Given the description of an element on the screen output the (x, y) to click on. 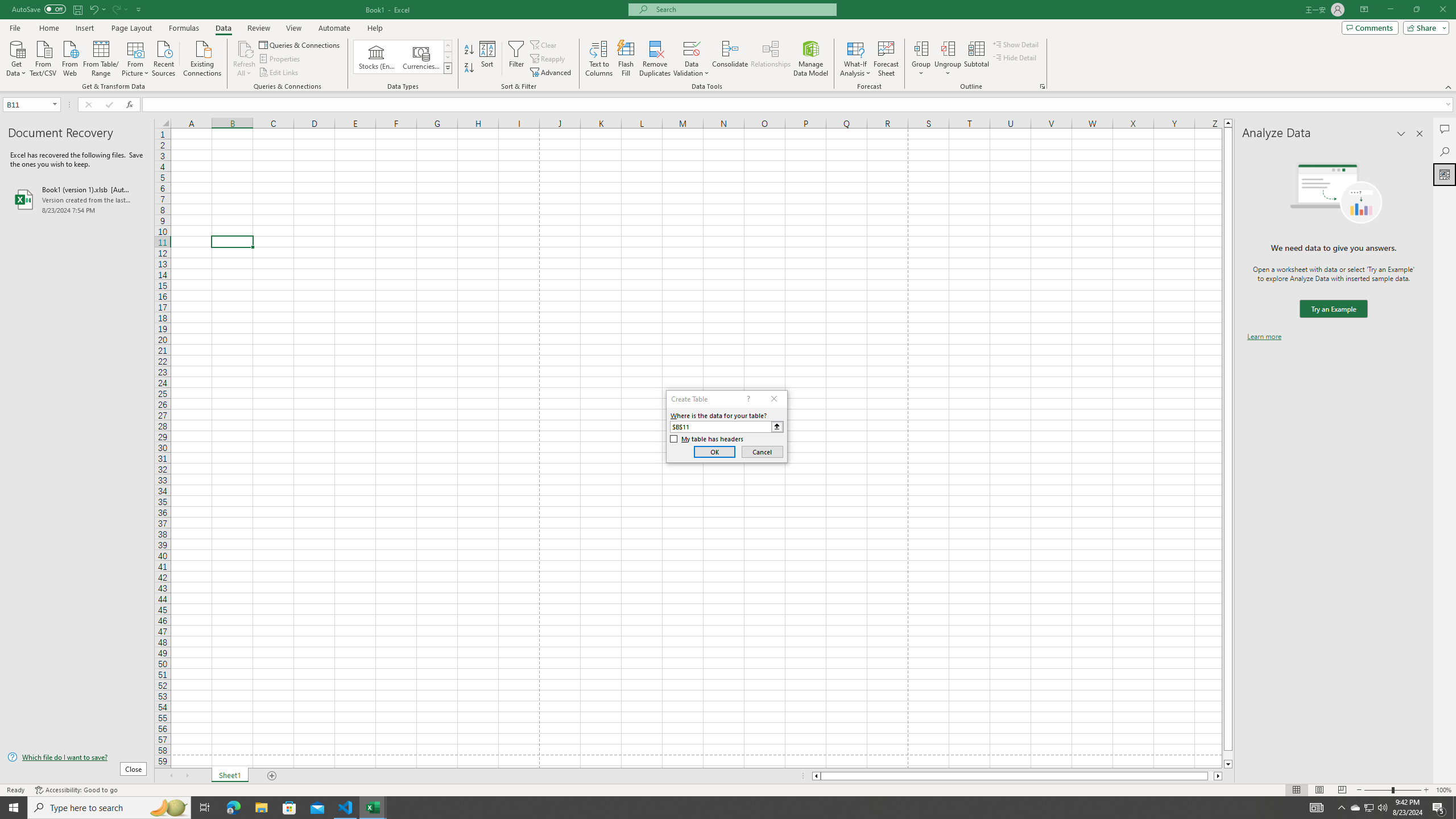
Consolidate... (729, 58)
